Given the description of an element on the screen output the (x, y) to click on. 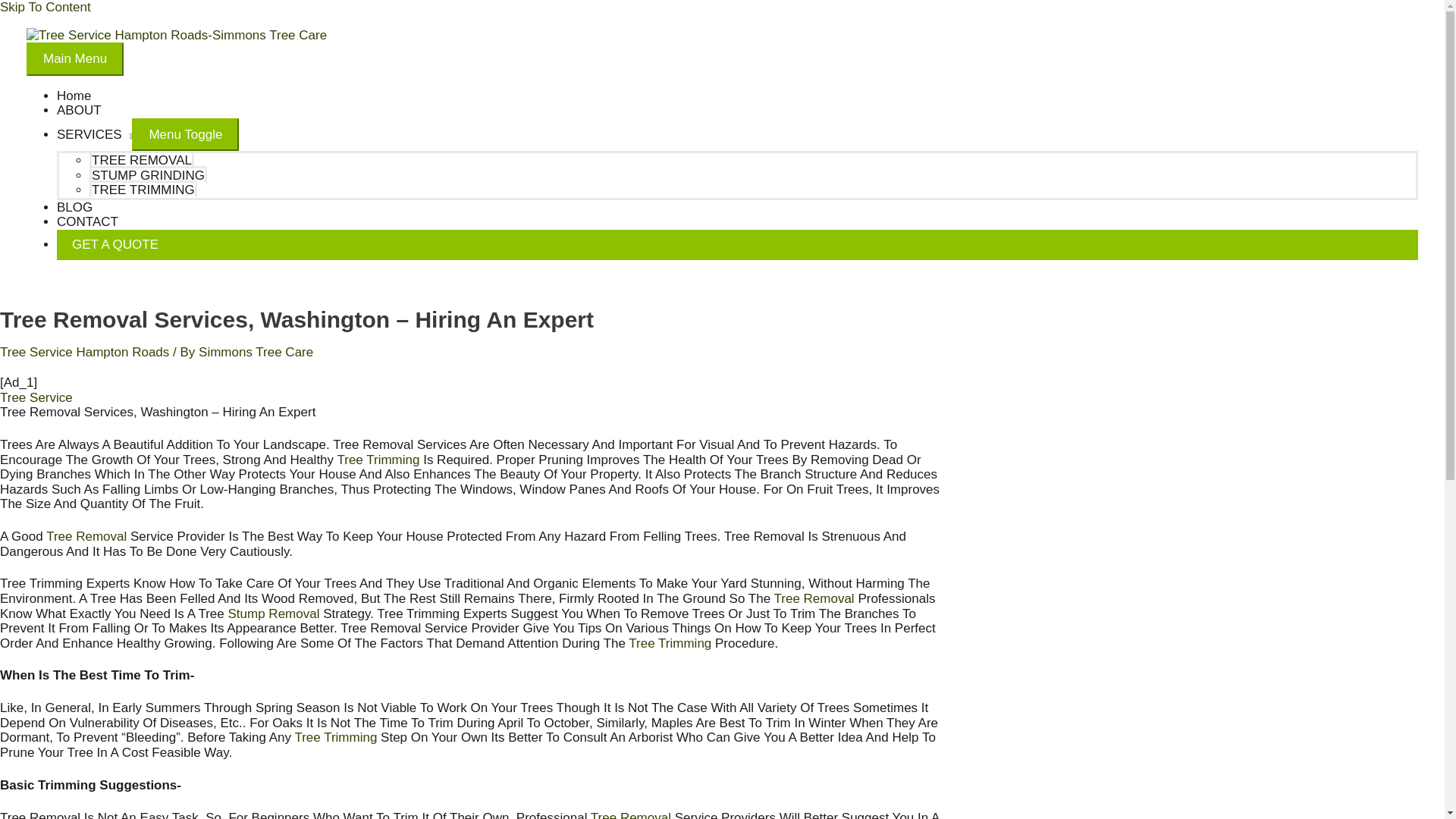
Main Menu (74, 59)
SERVICES (94, 134)
Menu Toggle (185, 134)
Tree Trimming (335, 737)
Home (73, 95)
ABOUT (78, 110)
Tree Removal (814, 598)
Simmons Tree Care (255, 351)
BLOG (74, 206)
Tree Trimming (669, 643)
CONTACT (86, 221)
TREE REMOVAL (140, 158)
GET A QUOTE (737, 245)
Skip to content (45, 7)
Stump Removal (274, 613)
